Given the description of an element on the screen output the (x, y) to click on. 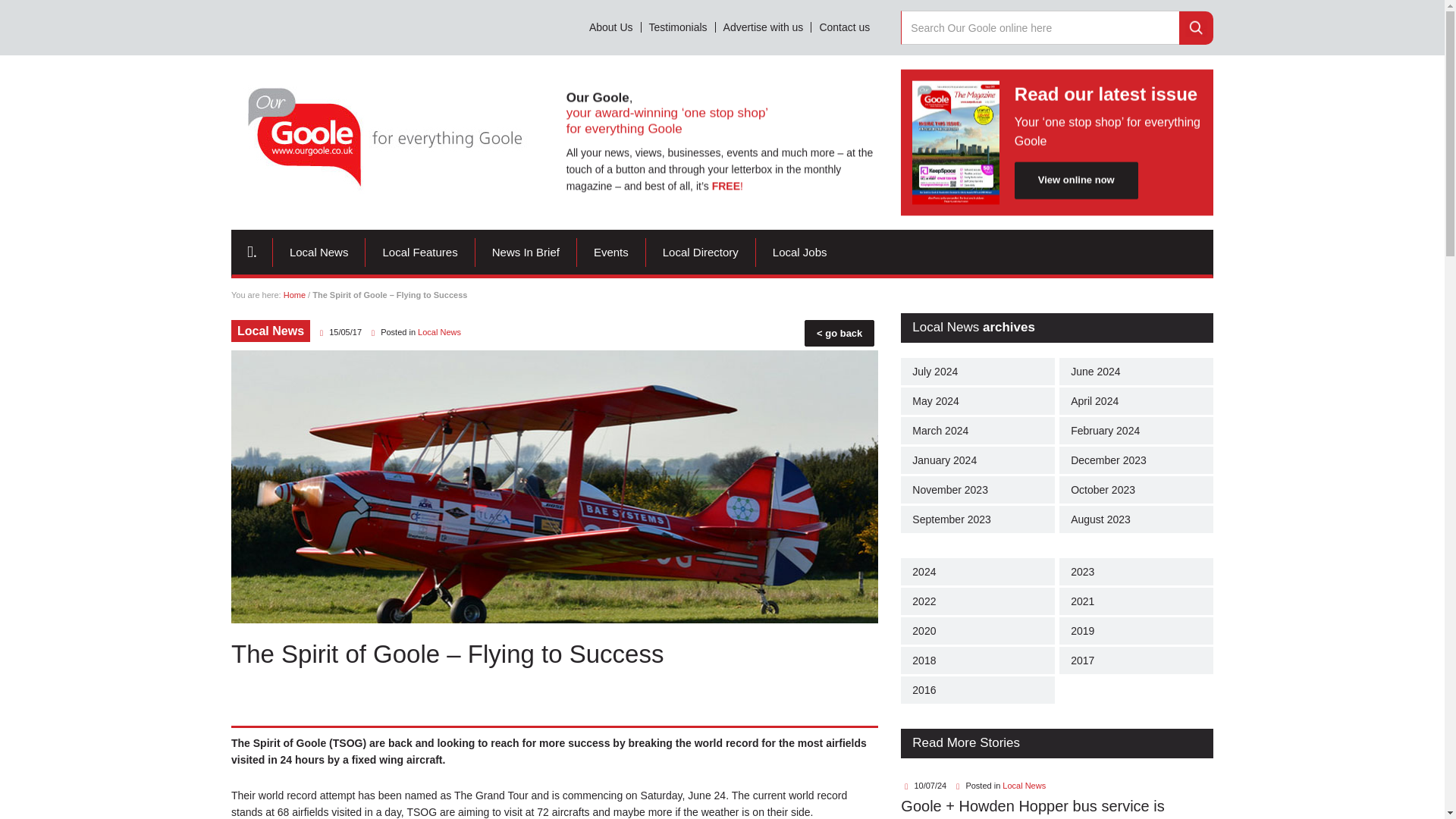
February 2024 (1135, 430)
September 2023 (977, 519)
News In Brief (526, 252)
June 2024 (1135, 370)
July 2024 (977, 370)
View online now (1076, 180)
Events (611, 252)
March 2024 (977, 430)
January 2024 (977, 460)
December 2023 (1135, 460)
Search (1195, 28)
Local News (439, 331)
Local Jobs (799, 252)
Local Directory (700, 252)
Local Features (419, 252)
